Given the description of an element on the screen output the (x, y) to click on. 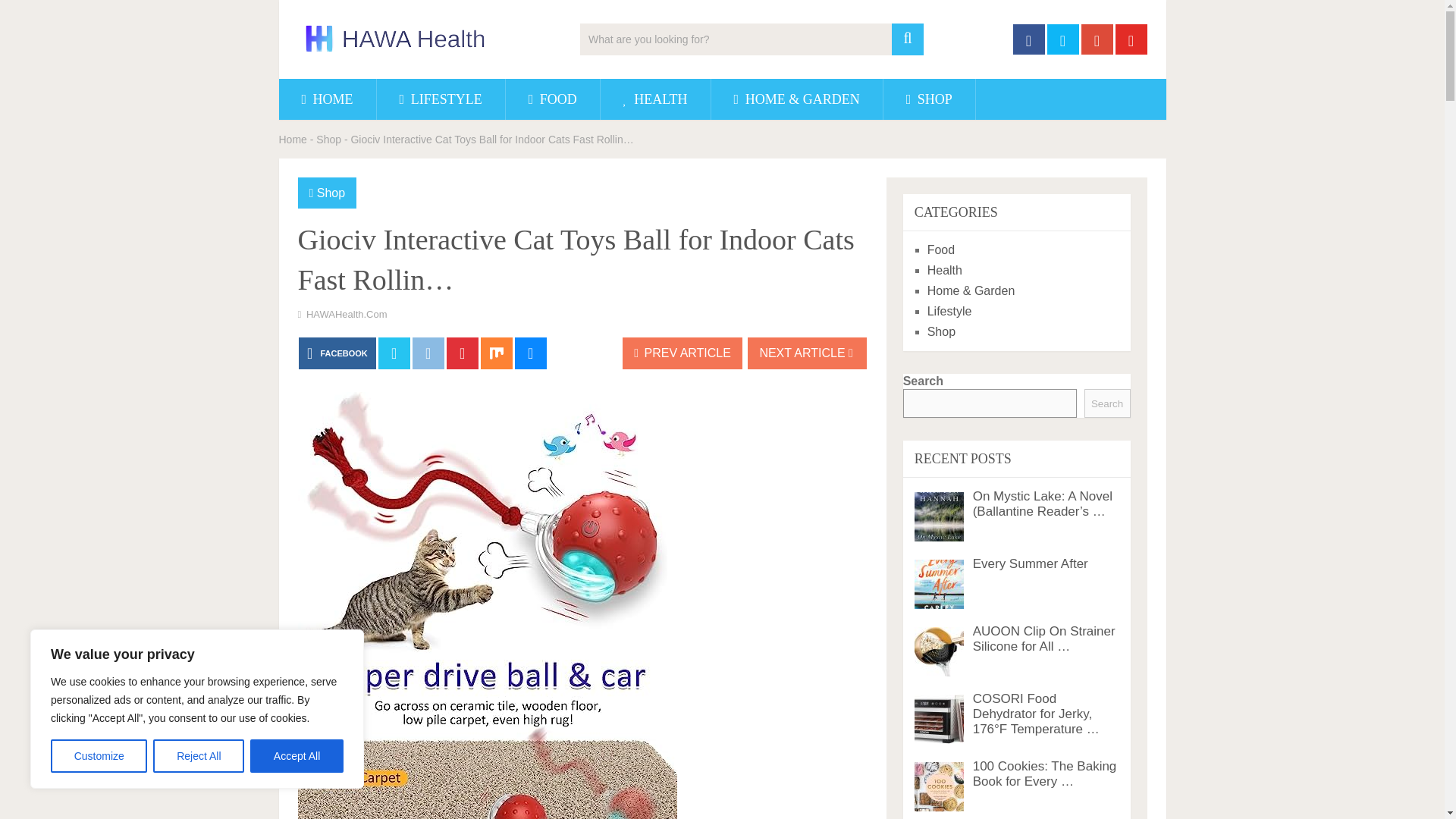
Accept All (296, 756)
FACEBOOK (336, 353)
LIFESTYLE (441, 98)
SHOP (929, 98)
HAWAHealth.Com (346, 314)
FOOD (552, 98)
Posts by HAWAHealth.com (346, 314)
View all posts in Shop (331, 192)
Home (293, 139)
Customize (98, 756)
